Given the description of an element on the screen output the (x, y) to click on. 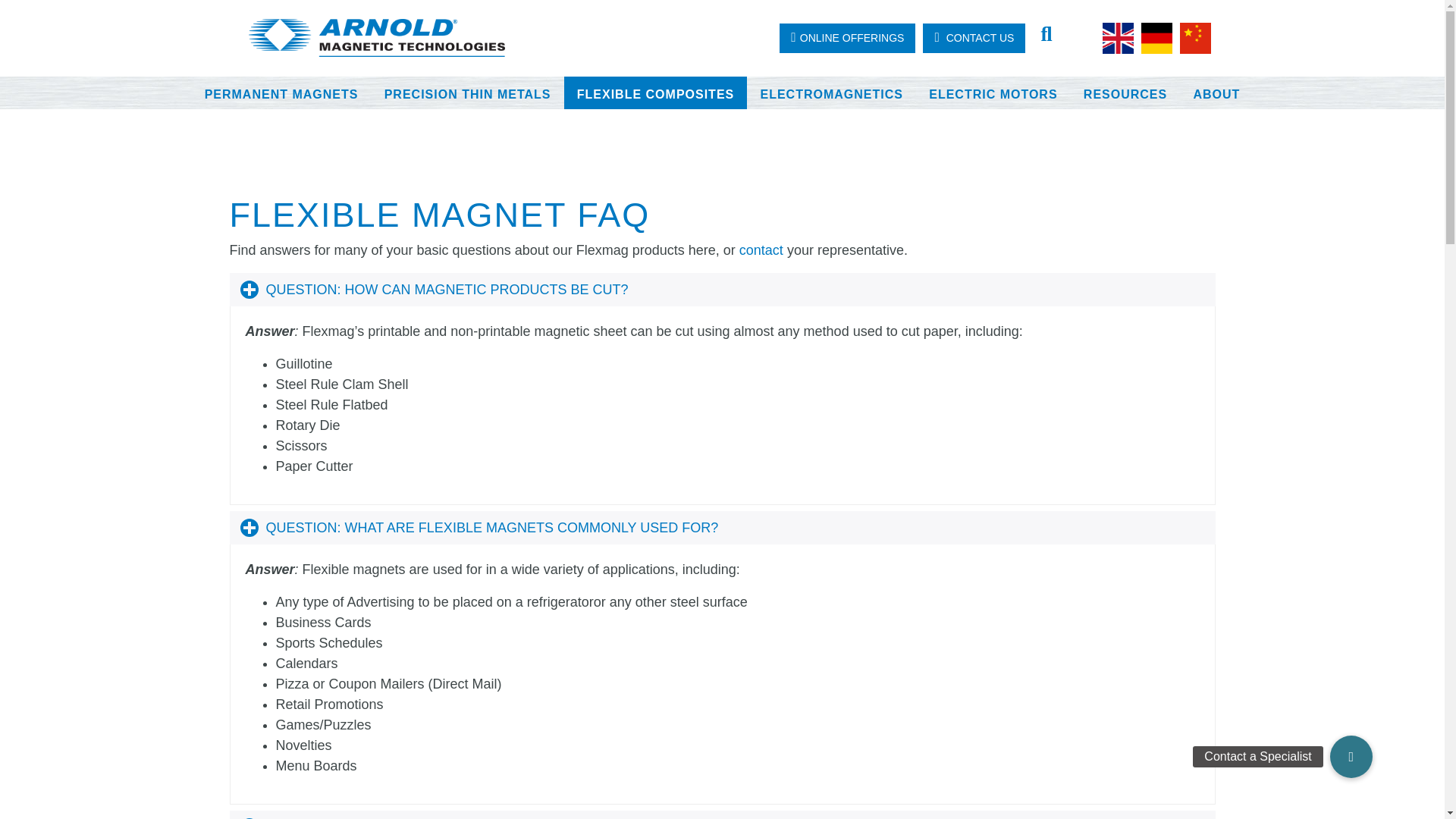
ELECTRIC MOTORS (992, 93)
PRECISION THIN METALS (467, 93)
PERMANENT MAGNETS (280, 93)
ELECTROMAGNETICS (830, 93)
FLEXIBLE COMPOSITES (656, 93)
RESOURCES (1125, 93)
